Given the description of an element on the screen output the (x, y) to click on. 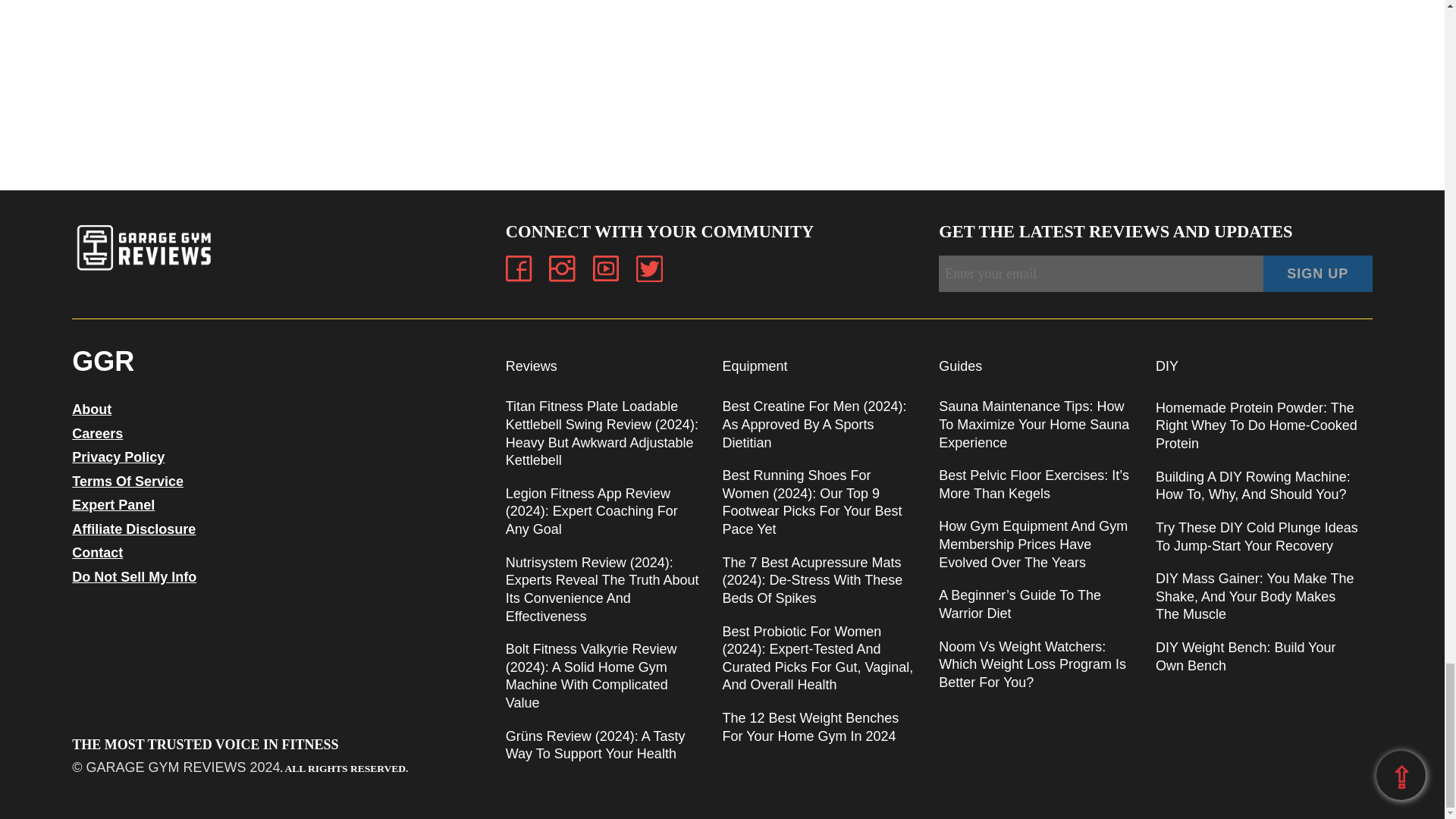
Sign Up (1318, 273)
